Given the description of an element on the screen output the (x, y) to click on. 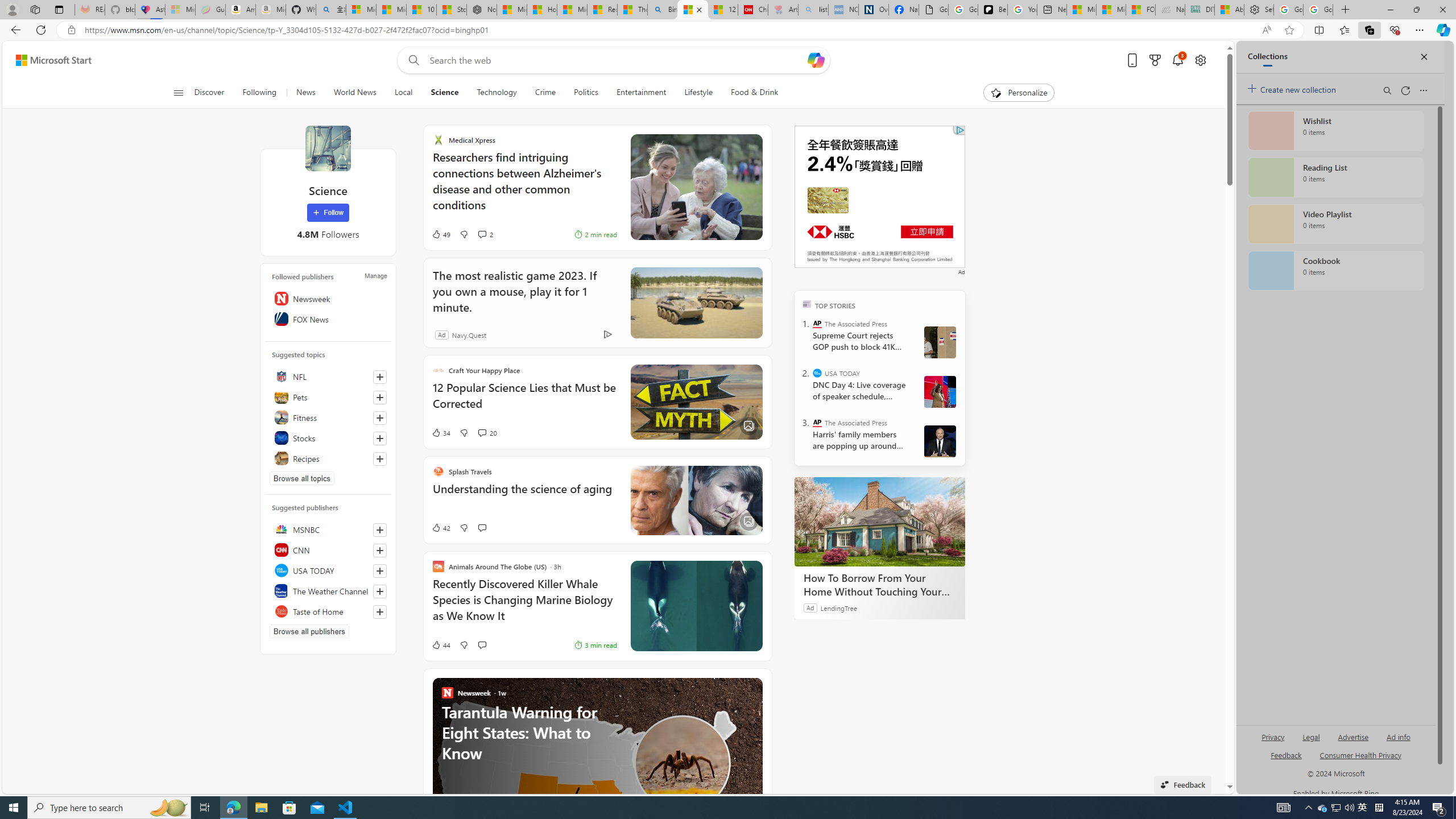
AutomationID: sb_feedback (1286, 754)
AutomationID: genId96 (1285, 759)
Be Smart | creating Science videos | Patreon (991, 9)
Bing (662, 9)
